Given the description of an element on the screen output the (x, y) to click on. 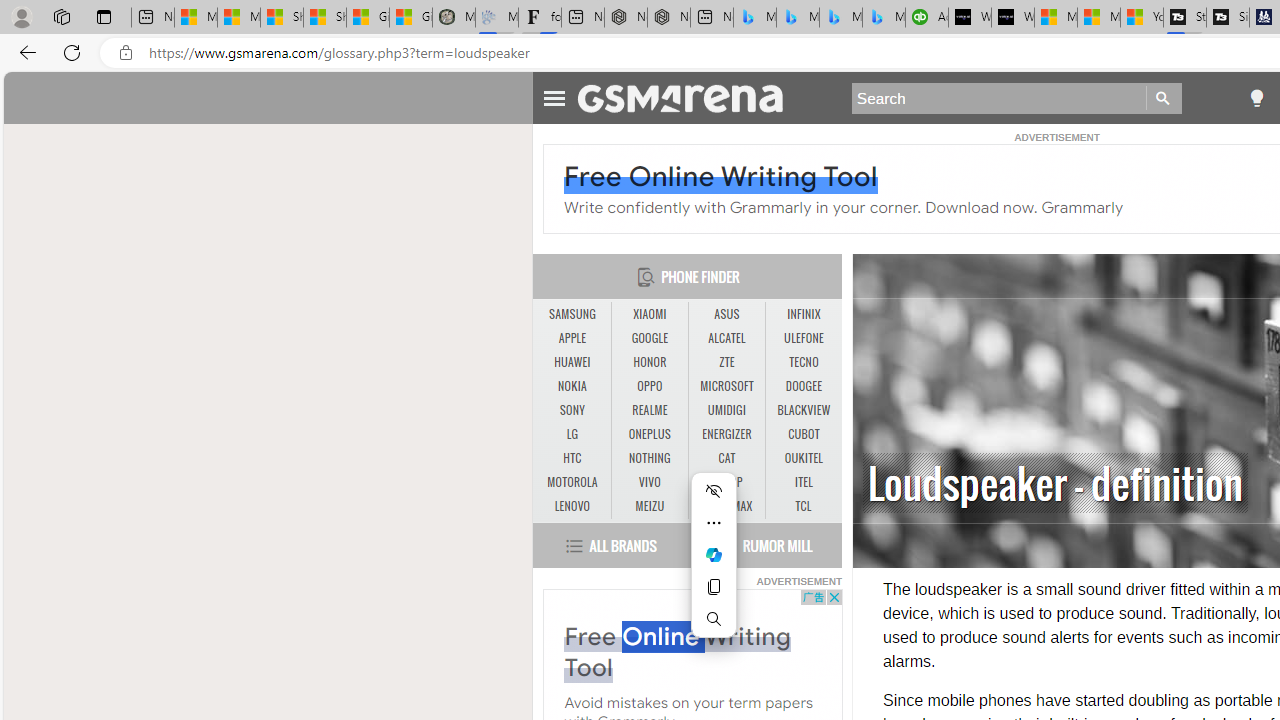
SONY (571, 410)
LG (571, 434)
INFINIX (803, 313)
DOOGEE (803, 386)
Copy (714, 586)
Manatee Mortality Statistics | FWC (453, 17)
SONY (571, 411)
TCL (802, 506)
Go (1163, 97)
OUKITEL (803, 458)
HONOR (649, 362)
VIVO (649, 483)
